Given the description of an element on the screen output the (x, y) to click on. 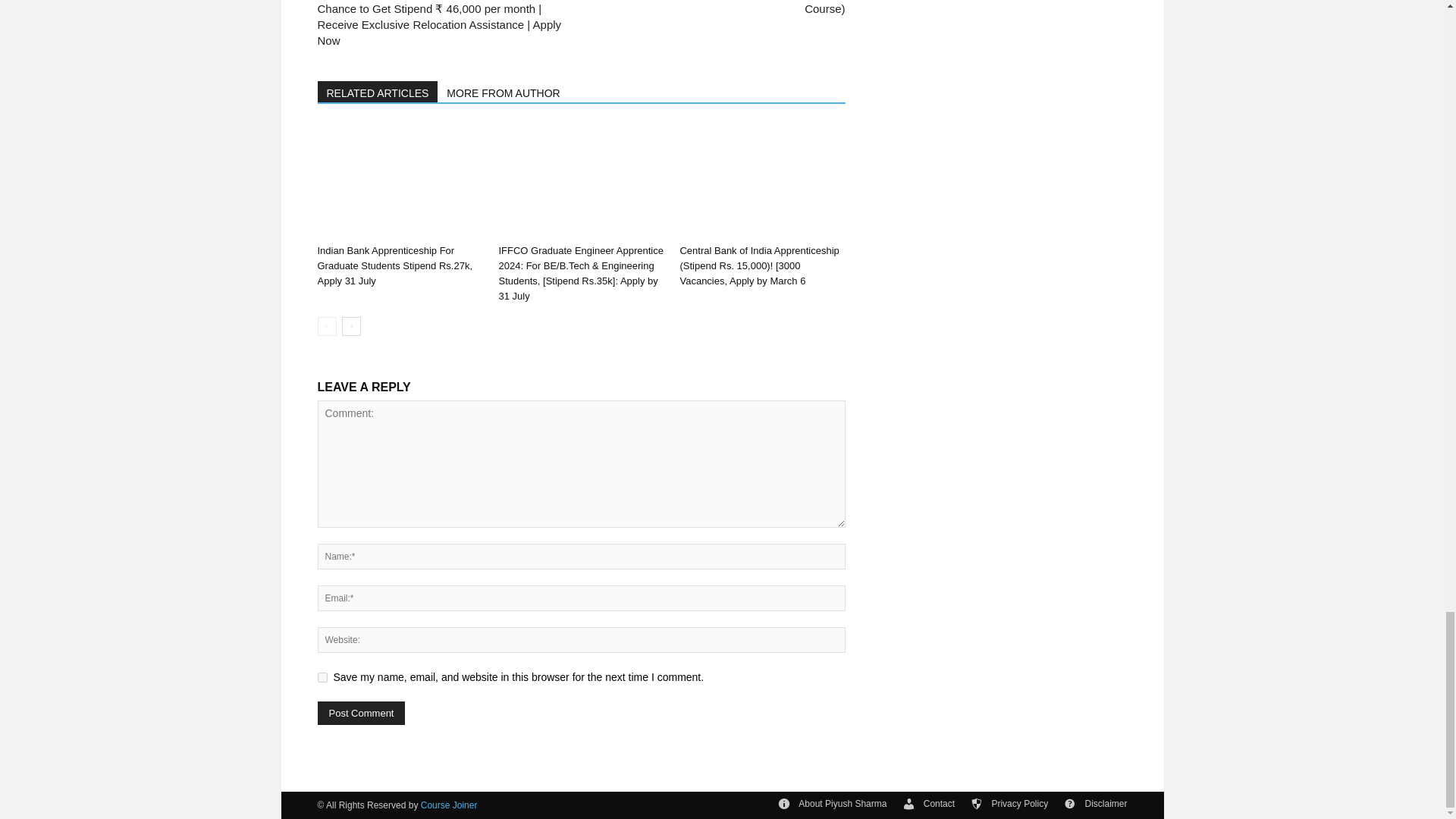
yes (321, 677)
Post Comment (360, 712)
